Given the description of an element on the screen output the (x, y) to click on. 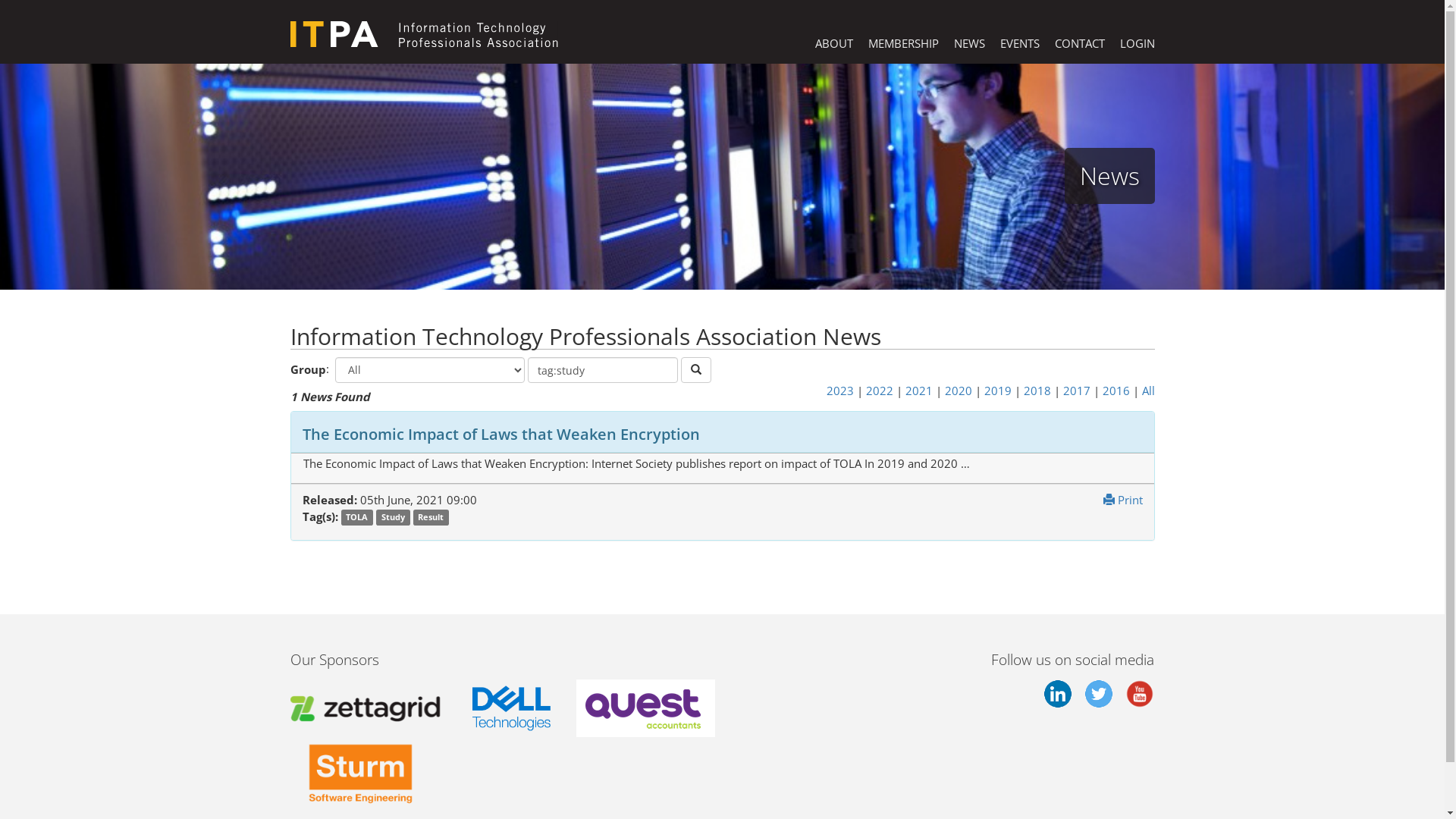
Dell Technologies Element type: hover (510, 706)
Quest Accountants Element type: hover (645, 708)
TOLA Element type: text (357, 517)
ABOUT Element type: text (832, 43)
The Economic Impact of Laws that Weaken Encryption Element type: text (500, 433)
NEWS Element type: text (969, 43)
Zettagrid Element type: hover (367, 706)
LOGIN Element type: text (1136, 43)
Result Element type: text (430, 517)
Sturm Software Engineering Element type: hover (360, 772)
2017 Element type: text (1076, 390)
2020 Element type: text (958, 390)
MEMBERSHIP Element type: text (902, 43)
Study Element type: text (393, 517)
2023 Element type: text (839, 390)
2022 Element type: text (879, 390)
Sturm Software Engineering Element type: hover (360, 770)
EVENTS Element type: text (1018, 43)
CONTACT Element type: text (1078, 43)
2021 Element type: text (918, 390)
2019 Element type: text (997, 390)
2018 Element type: text (1037, 390)
Print Element type: text (1122, 499)
2016 Element type: text (1115, 390)
Quest Accountants Element type: hover (645, 706)
All Element type: text (1148, 390)
Dell Element type: hover (510, 708)
